Given the description of an element on the screen output the (x, y) to click on. 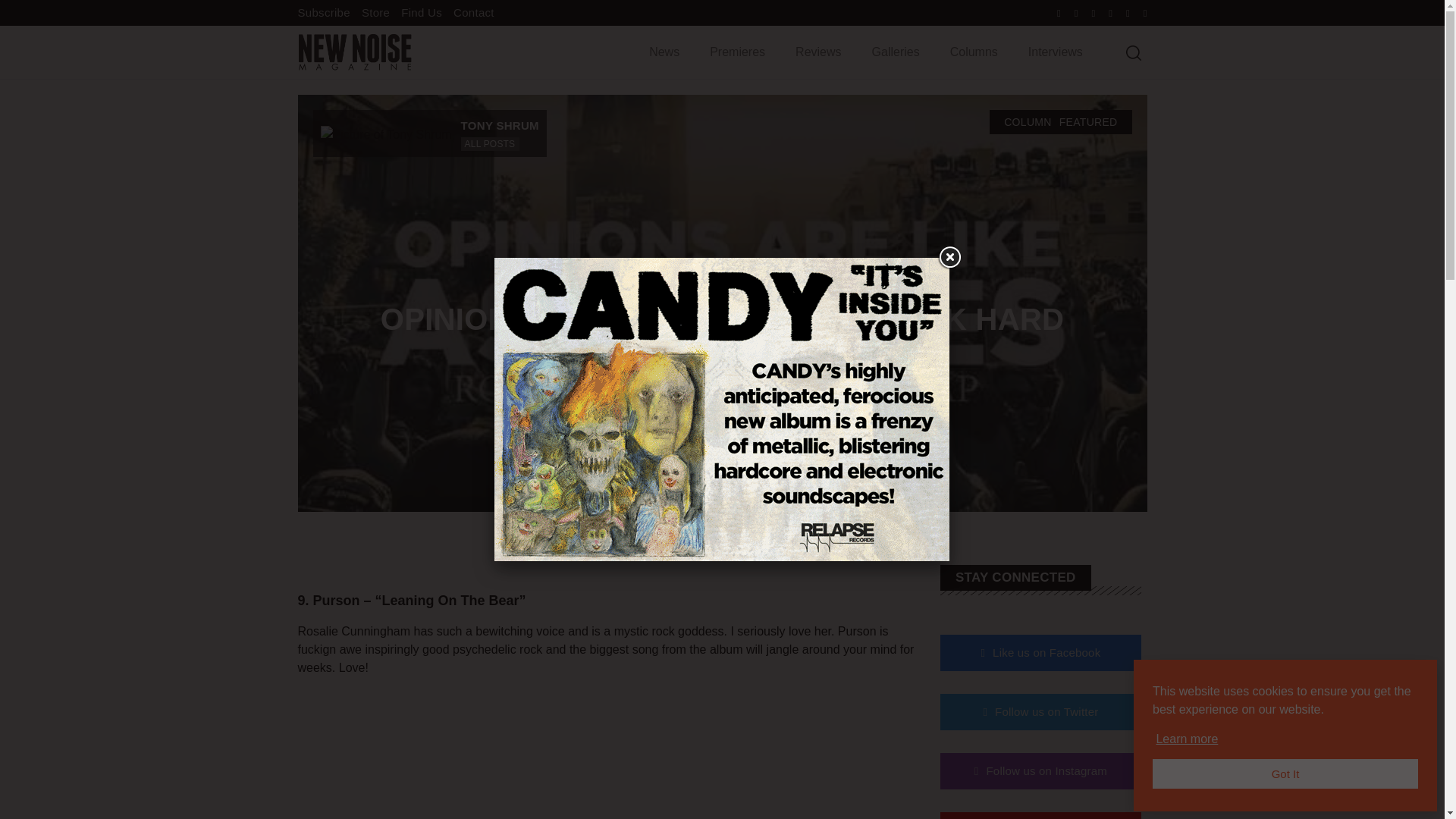
Interviews (1055, 52)
Premieres (737, 52)
News (663, 52)
Store (375, 12)
Contact (473, 12)
Columns (973, 52)
Close (949, 257)
Find Us (421, 12)
Subscribe (323, 12)
Galleries (895, 52)
Reviews (818, 52)
